Given the description of an element on the screen output the (x, y) to click on. 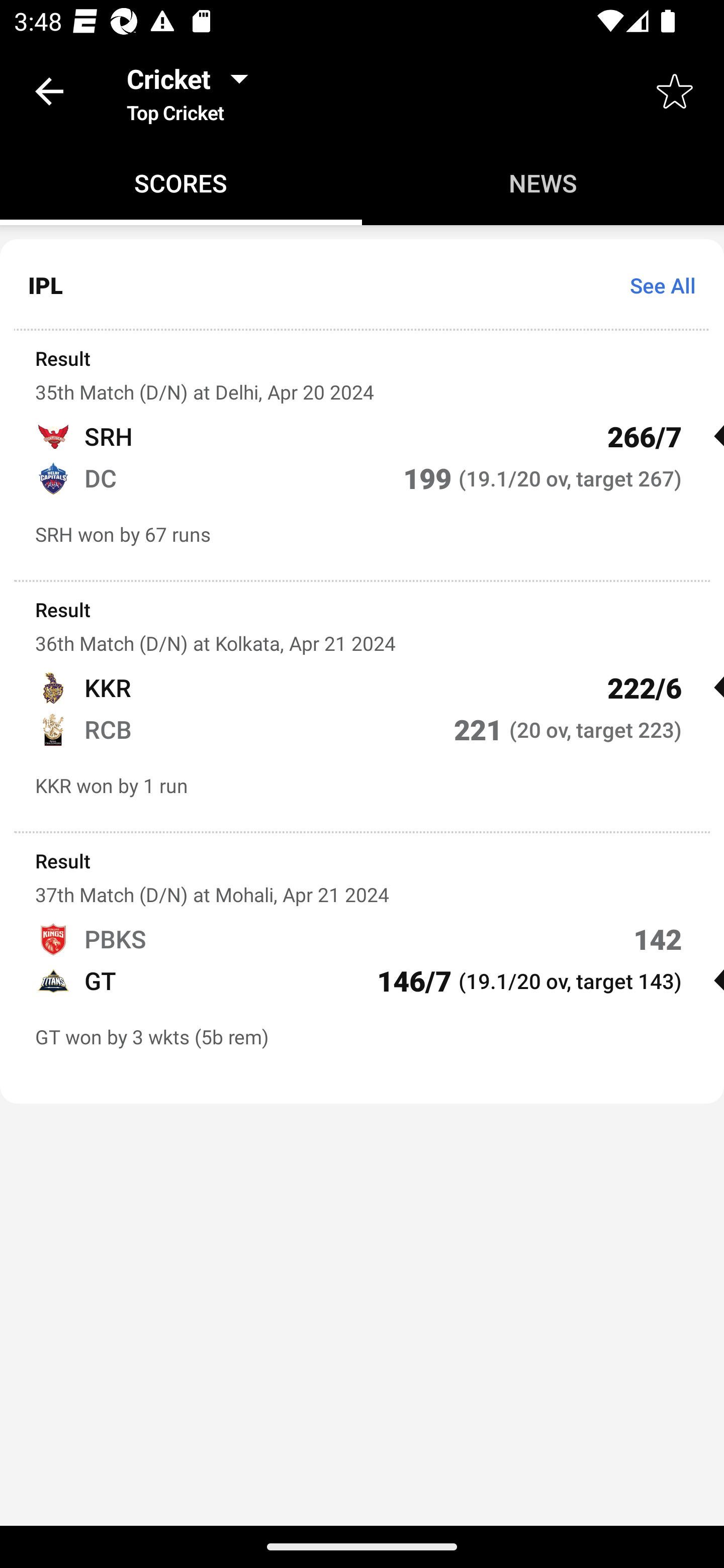
Cricket Top Cricket (193, 90)
Favorite toggle (674, 90)
News NEWS (543, 183)
IPL See All (362, 284)
See All (655, 285)
